Given the description of an element on the screen output the (x, y) to click on. 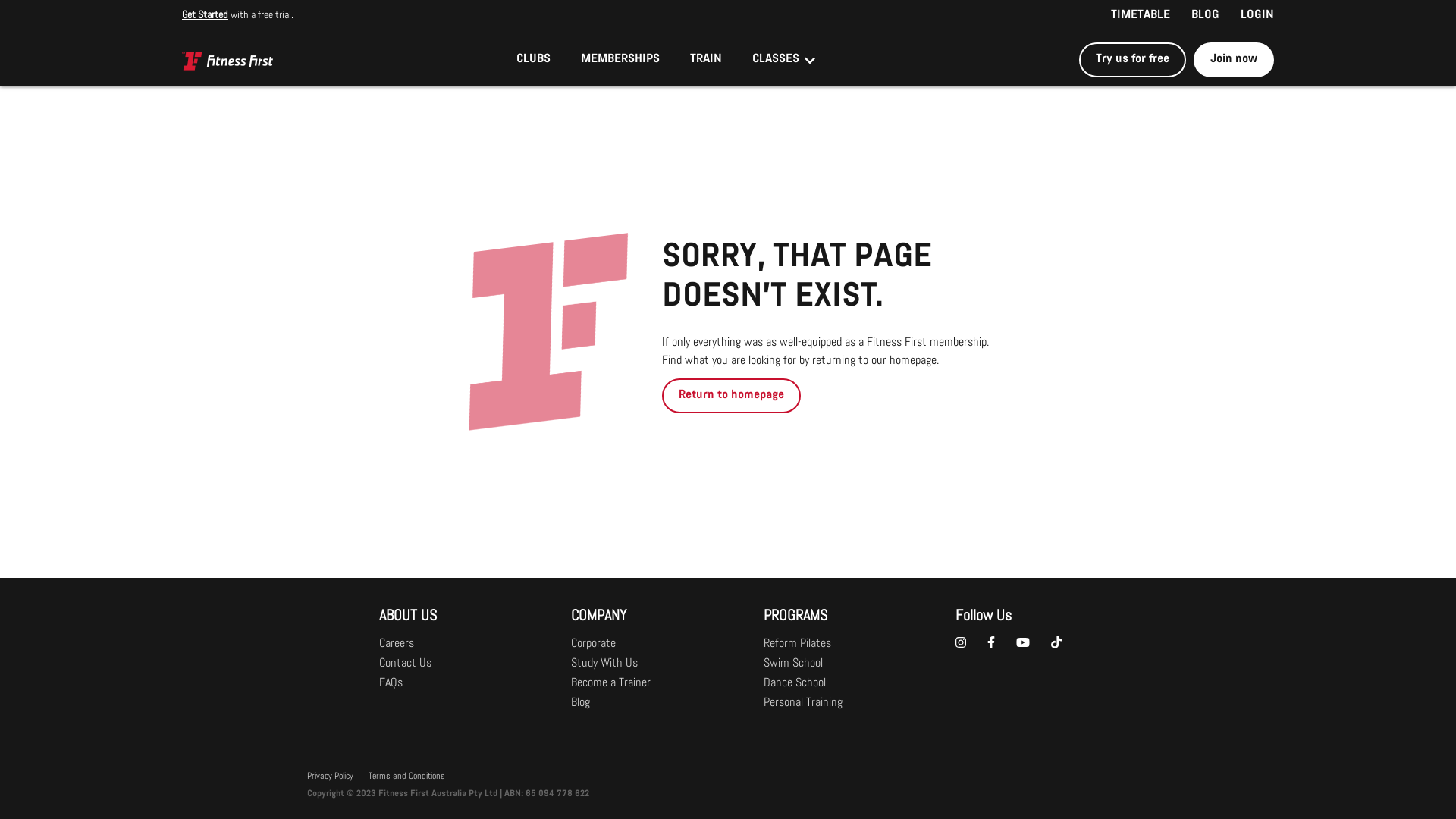
Study With Us Element type: text (604, 663)
MEMBERSHIPS Element type: text (619, 59)
Join now Element type: text (1233, 59)
Corporate Element type: text (593, 643)
LOGIN Element type: text (1252, 16)
Reform Pilates Element type: text (797, 643)
Try us for free Element type: text (1136, 57)
CLUBS Element type: text (533, 59)
BLOG Element type: text (1205, 16)
Return to homepage Element type: text (730, 395)
Personal Training Element type: text (802, 702)
Return to homepage Element type: text (730, 395)
Careers Element type: text (396, 643)
CLASSES Element type: text (786, 59)
Dance School Element type: text (794, 682)
Blog Element type: text (580, 702)
Get Started Element type: text (205, 15)
Try us for free Element type: text (1132, 59)
Privacy Policy Element type: text (330, 776)
Terms and Conditions Element type: text (406, 776)
Become a Trainer Element type: text (610, 682)
FAQs Element type: text (390, 682)
TIMETABLE Element type: text (1140, 16)
TRAIN Element type: text (705, 59)
Join now Element type: text (1233, 57)
Contact Us Element type: text (405, 663)
Swim School Element type: text (792, 663)
